Given the description of an element on the screen output the (x, y) to click on. 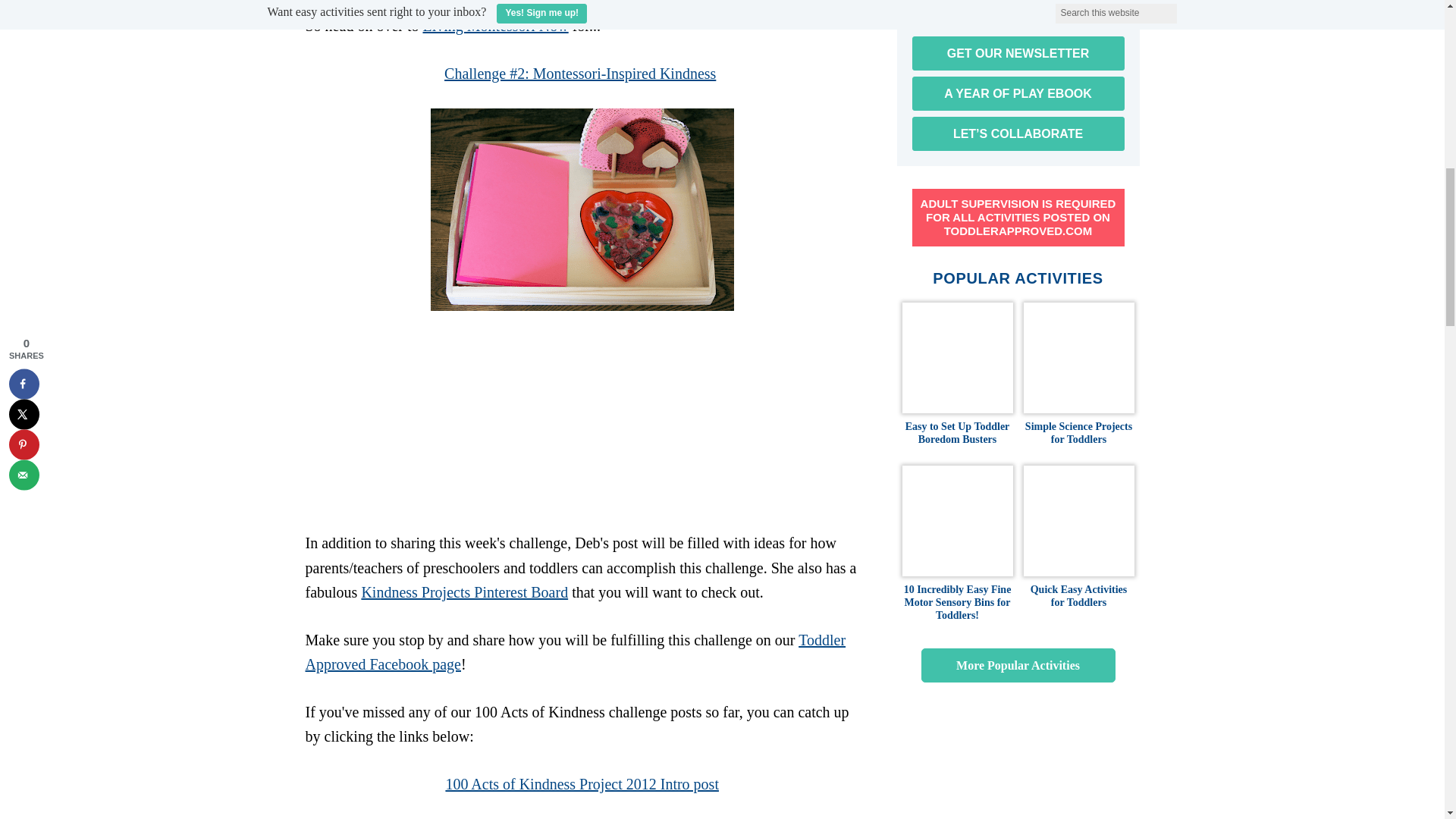
Most Popular (1017, 665)
